Given the description of an element on the screen output the (x, y) to click on. 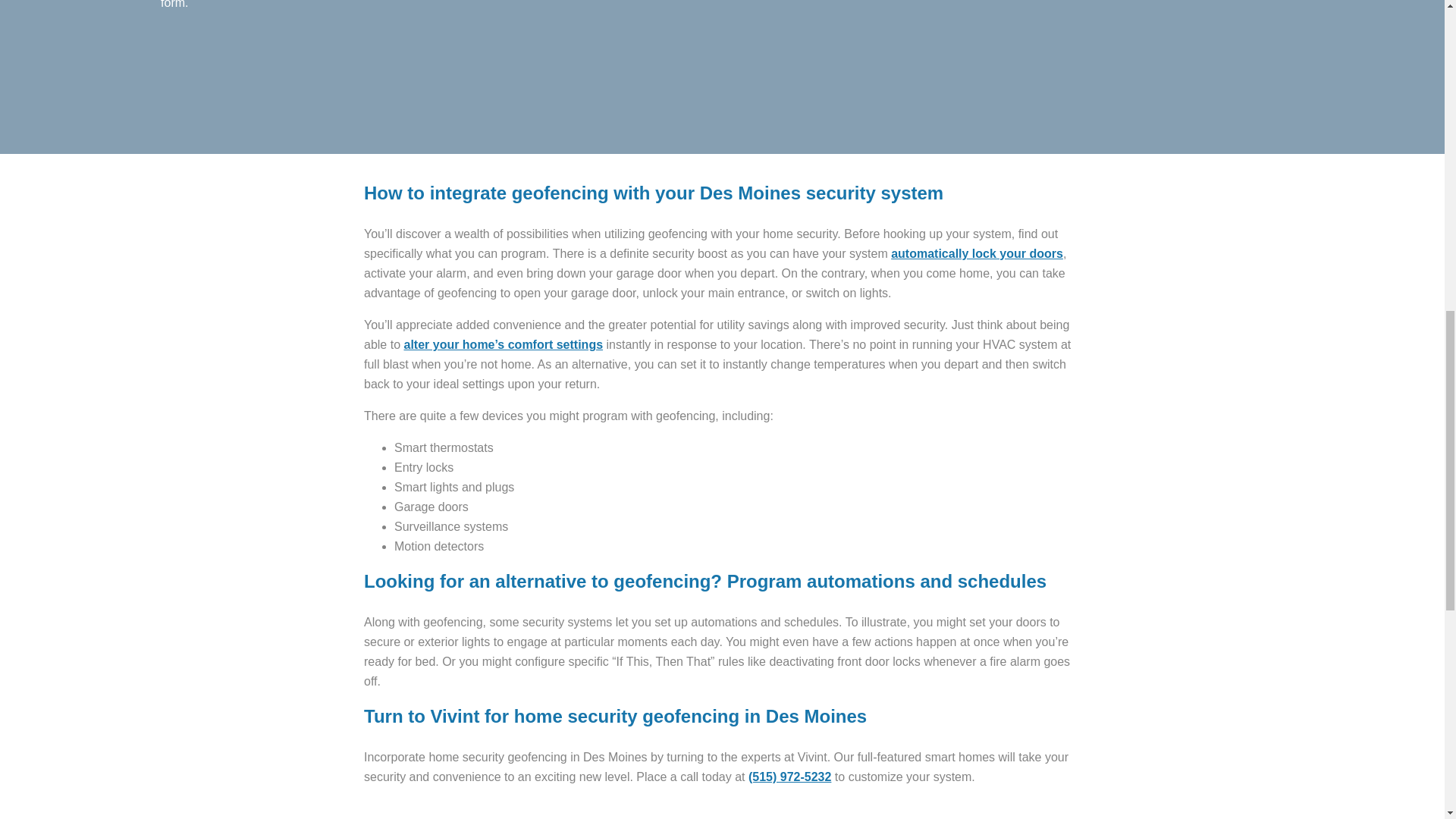
Automatically lock your front door (976, 253)
Adjust your home's comfort levels (502, 344)
automatically lock your doors (976, 253)
